Given the description of an element on the screen output the (x, y) to click on. 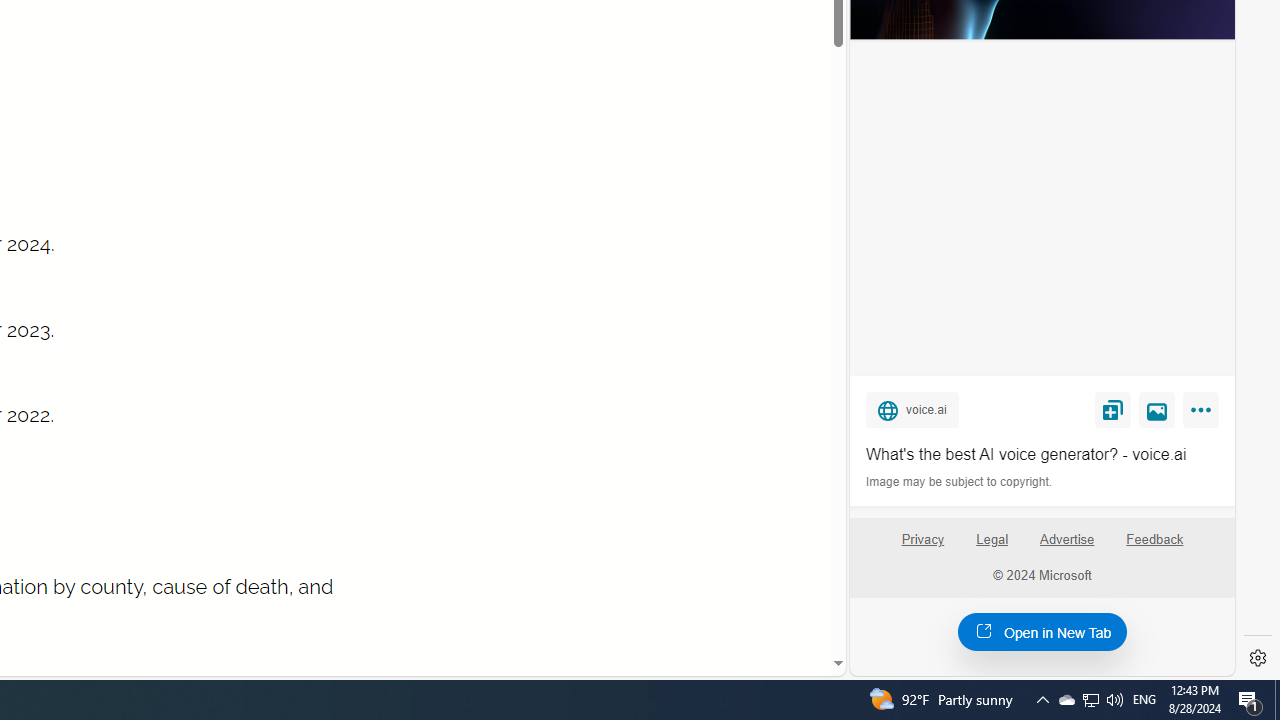
Legal (991, 539)
Privacy (922, 539)
Privacy (922, 547)
